Given the description of an element on the screen output the (x, y) to click on. 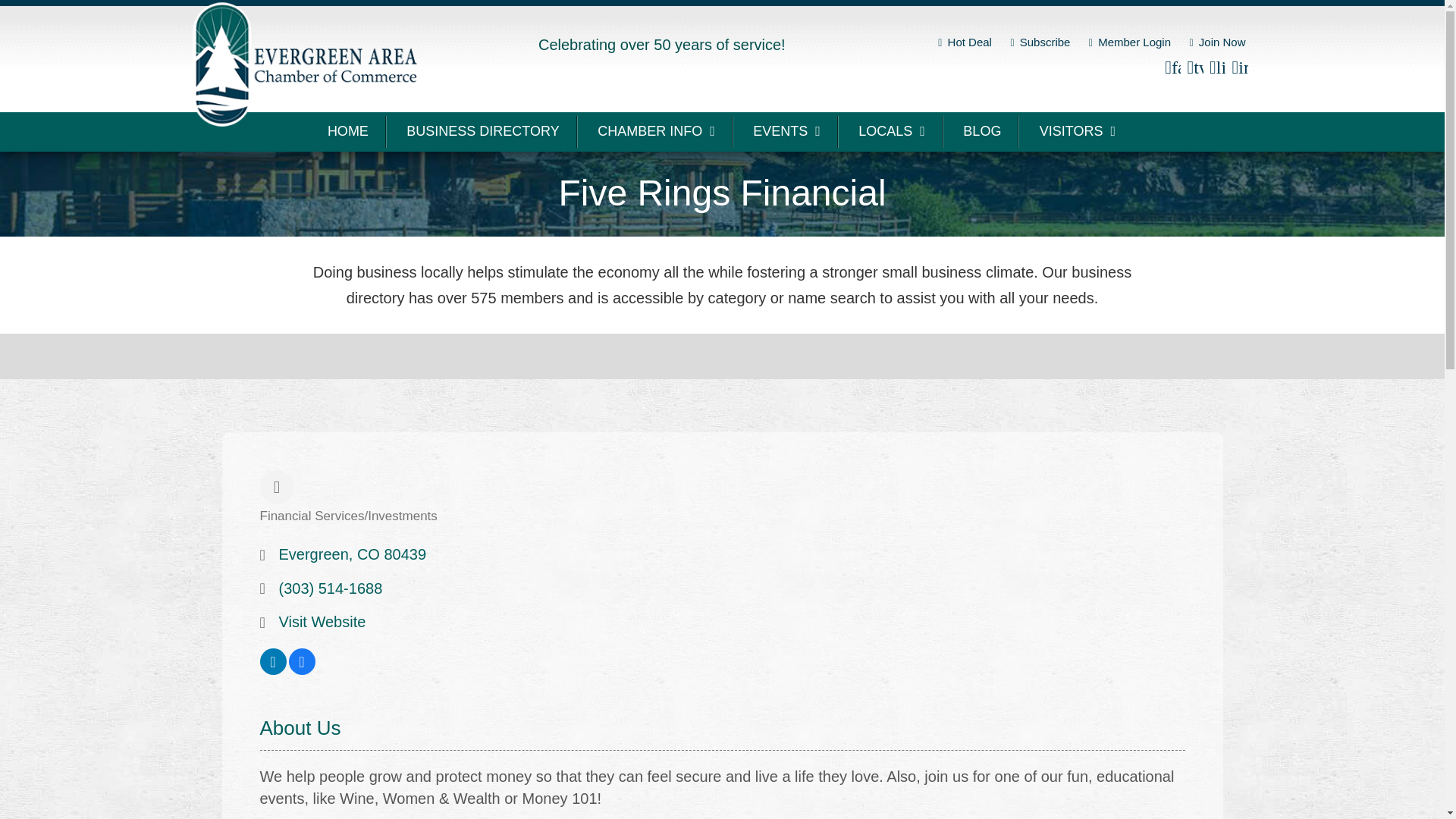
BUSINESS DIRECTORY (483, 132)
Celebrating over 50 years of service! (662, 44)
Subscribe (1040, 42)
View on LinkedIn (272, 669)
HOME (349, 132)
View on Facebook (301, 669)
CHAMBER INFO (656, 132)
EVENTS (787, 132)
Hot Deal (964, 42)
Join Now (1216, 42)
